Given the description of an element on the screen output the (x, y) to click on. 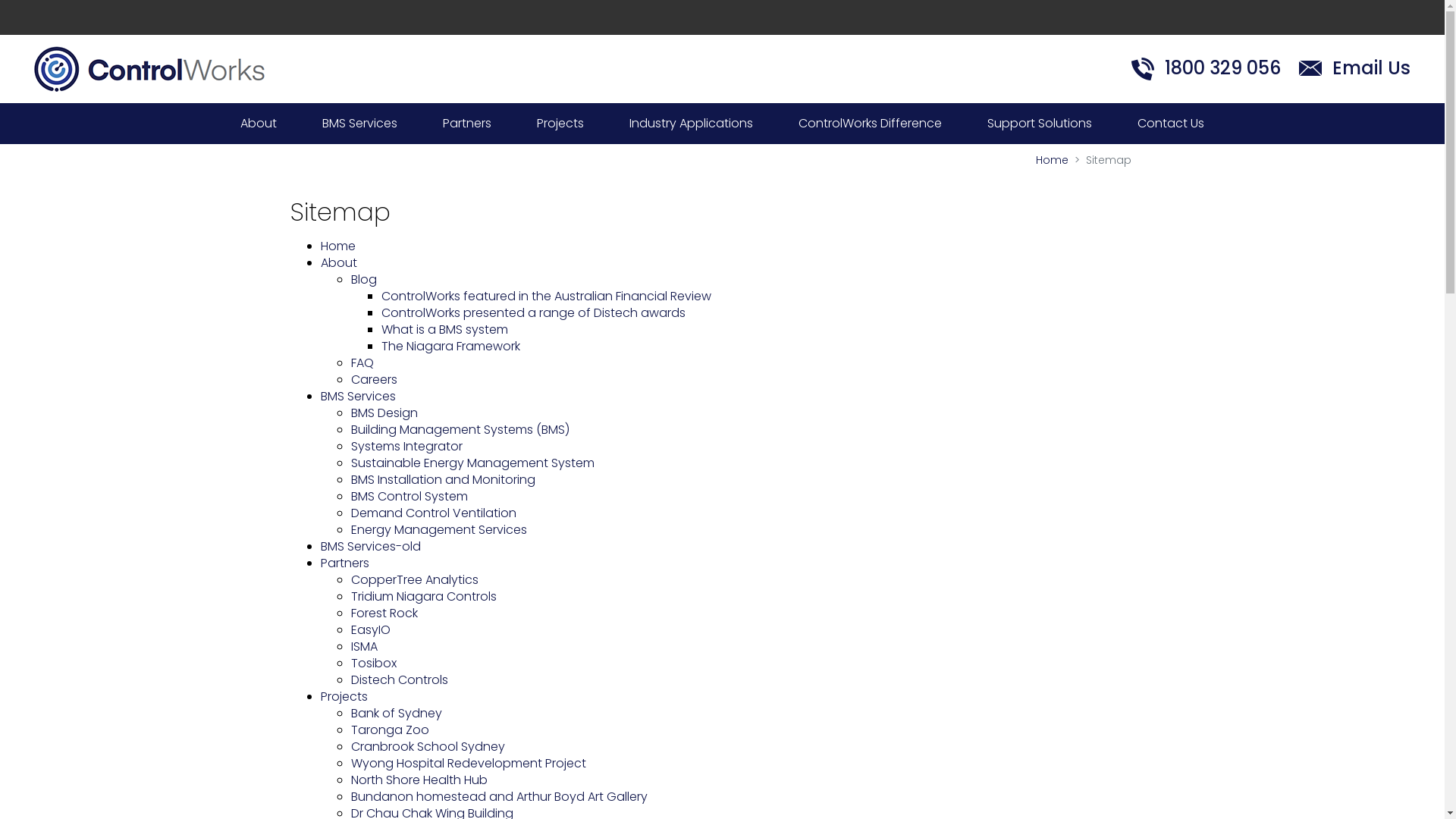
Tridium Niagara Controls Element type: text (422, 596)
North Shore Health Hub Element type: text (418, 779)
BMS Services-old Element type: text (370, 546)
Blog Element type: text (363, 279)
ControlWorks presented a range of Distech awards Element type: text (532, 312)
Sustainable Energy Management System Element type: text (471, 462)
Contact Us Element type: text (1170, 123)
Projects Element type: text (560, 123)
Tosibox Element type: text (372, 662)
Email Us Element type: text (1354, 67)
BMS Services Element type: text (357, 395)
Cranbrook School Sydney Element type: text (427, 746)
1800 329 056 Element type: text (1205, 67)
BMS Installation and Monitoring Element type: text (442, 479)
Demand Control Ventilation Element type: text (432, 512)
Energy Management Services Element type: text (438, 529)
CopperTree Analytics Element type: text (413, 579)
ControlWorks Difference Element type: text (869, 123)
Wyong Hospital Redevelopment Project Element type: text (467, 762)
The Niagara Framework Element type: text (449, 345)
Systems Integrator Element type: text (405, 446)
FAQ Element type: text (361, 362)
Partners Element type: text (344, 562)
Partners Element type: text (467, 123)
Careers Element type: text (373, 379)
What is a BMS system Element type: text (443, 329)
Distech Controls Element type: text (398, 679)
ISMA Element type: text (363, 646)
Industry Applications Element type: text (690, 123)
Home Element type: text (337, 245)
Home Element type: text (1051, 159)
Taronga Zoo Element type: text (389, 729)
Forest Rock Element type: text (383, 612)
Support Solutions Element type: text (1039, 123)
BMS Services Element type: text (359, 123)
Projects Element type: text (343, 696)
ControlWorks featured in the Australian Financial Review Element type: text (545, 295)
About Element type: text (258, 123)
Bank of Sydney Element type: text (395, 712)
BMS Design Element type: text (383, 412)
Bundanon homestead and Arthur Boyd Art Gallery Element type: text (498, 796)
Building Management Systems (BMS) Element type: text (459, 429)
About Element type: text (338, 262)
BMS Control System Element type: text (408, 496)
EasyIO Element type: text (369, 629)
